Given the description of an element on the screen output the (x, y) to click on. 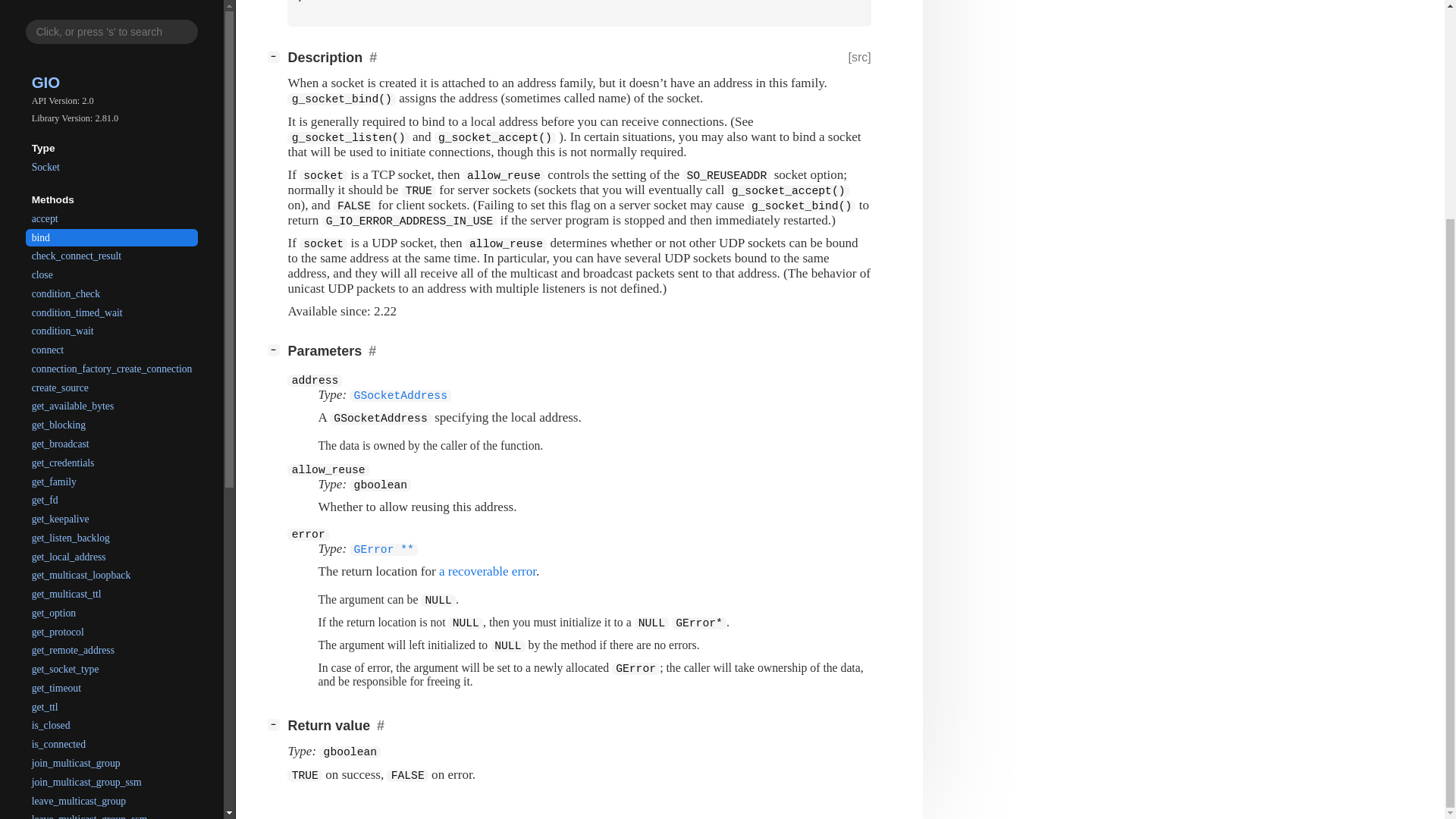
No reference to the GLib namespace (383, 548)
listen (112, 549)
connect (112, 61)
receive (112, 568)
go to source location (858, 57)
transfer: none (430, 445)
